Given the description of an element on the screen output the (x, y) to click on. 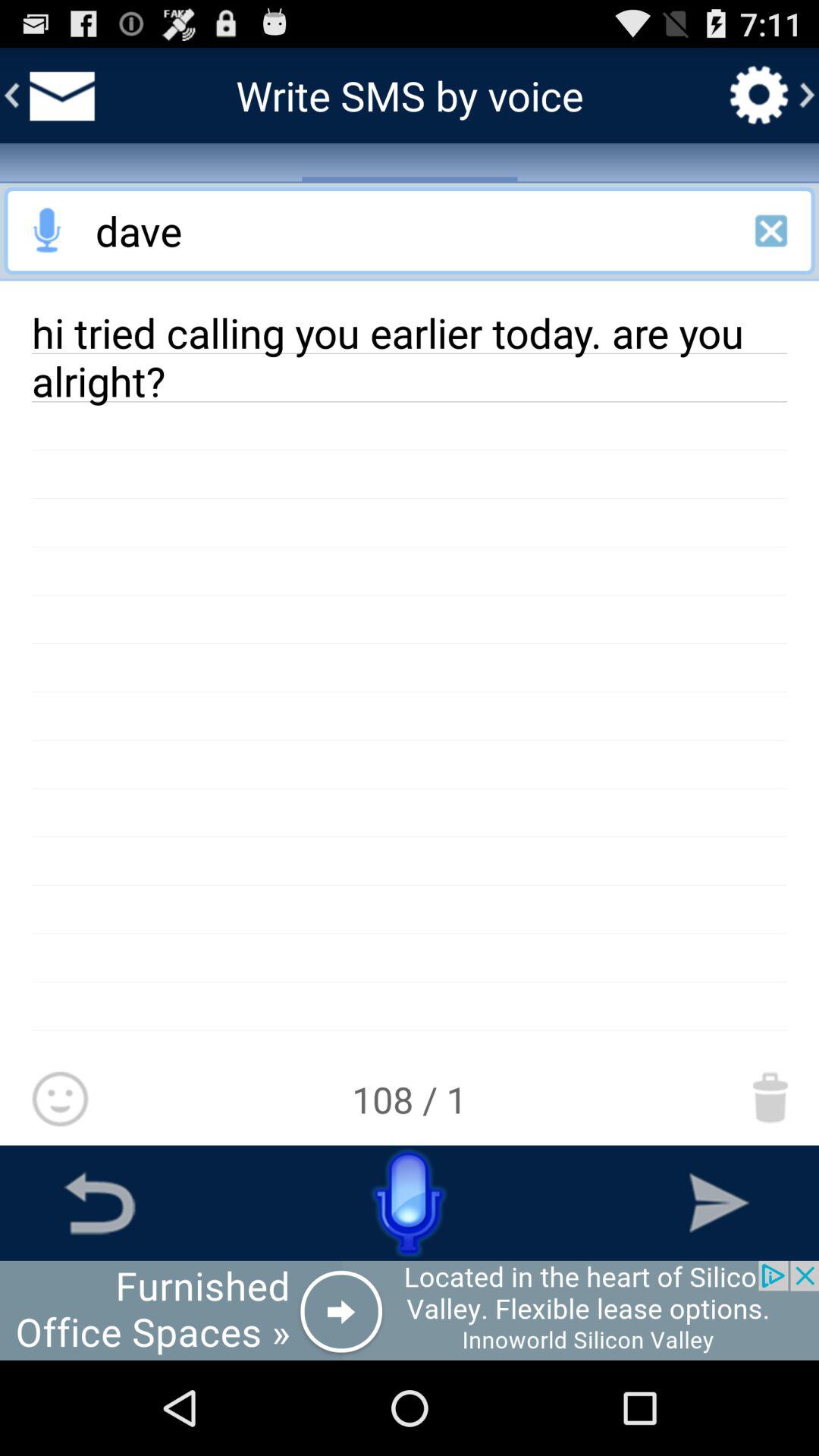
go to inbox (59, 95)
